Given the description of an element on the screen output the (x, y) to click on. 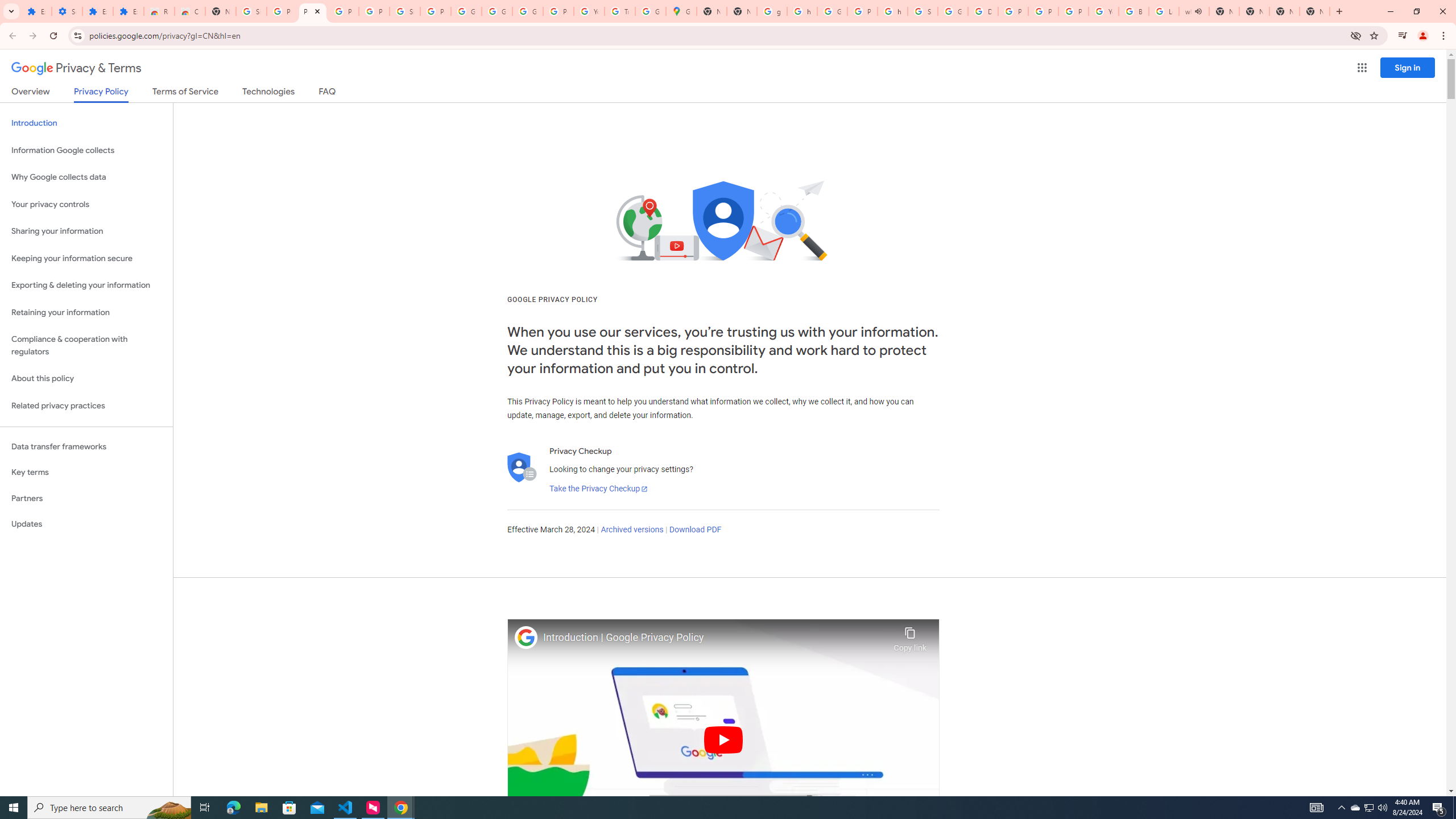
Extensions (127, 11)
Related privacy practices (86, 405)
Play (723, 739)
Partners (86, 497)
Extensions (97, 11)
Sign in - Google Accounts (404, 11)
https://scholar.google.com/ (892, 11)
Technologies (268, 93)
Data transfer frameworks (86, 446)
Key terms (86, 472)
